Given the description of an element on the screen output the (x, y) to click on. 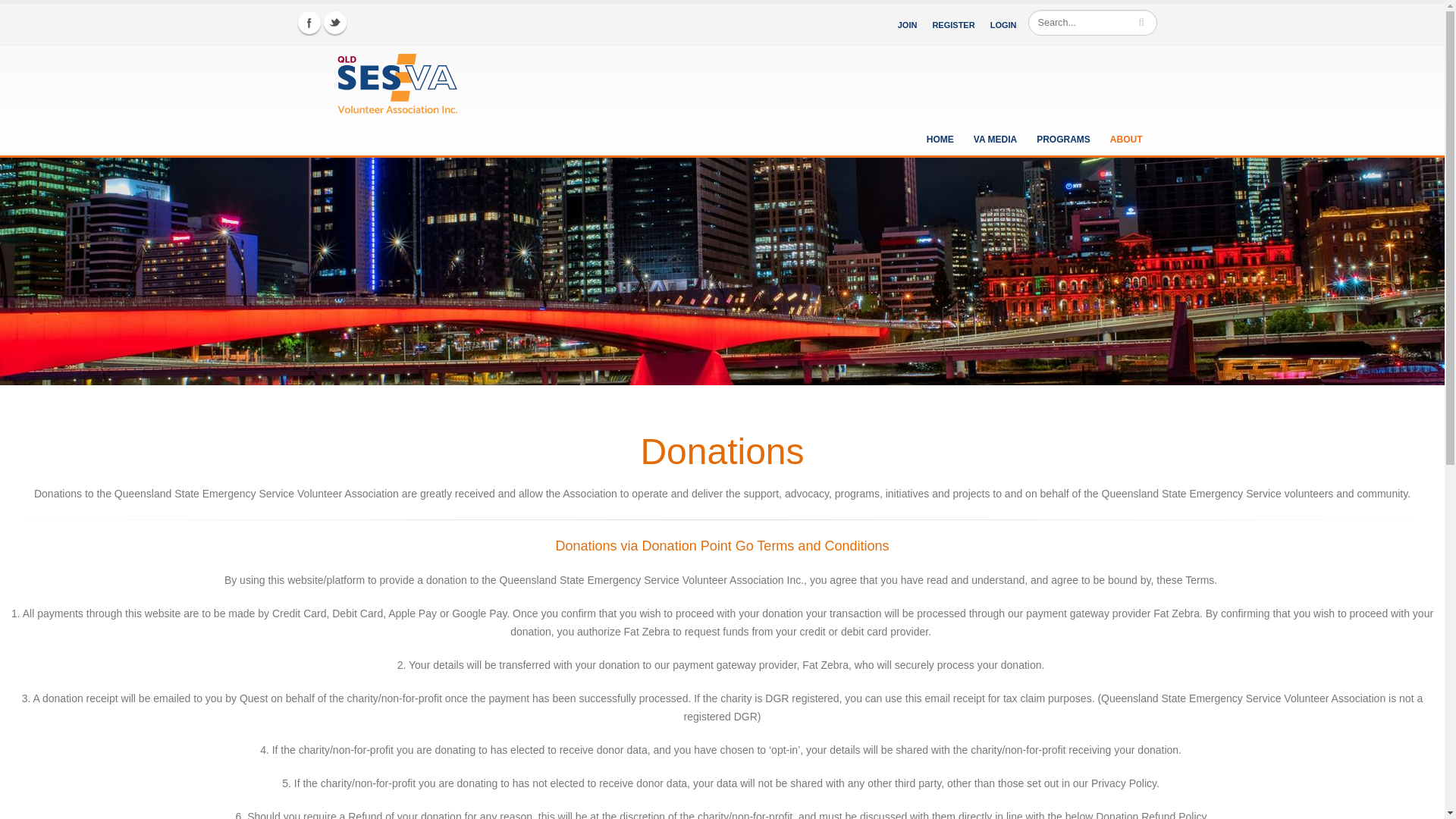
Twitter (334, 22)
Login (1003, 24)
HOME (940, 137)
QLD SES VA (376, 81)
REGISTER (952, 23)
VA MEDIA (994, 137)
Facebook (308, 22)
Twitter (334, 22)
LOGIN (1003, 24)
ABOUT (1126, 137)
